Given the description of an element on the screen output the (x, y) to click on. 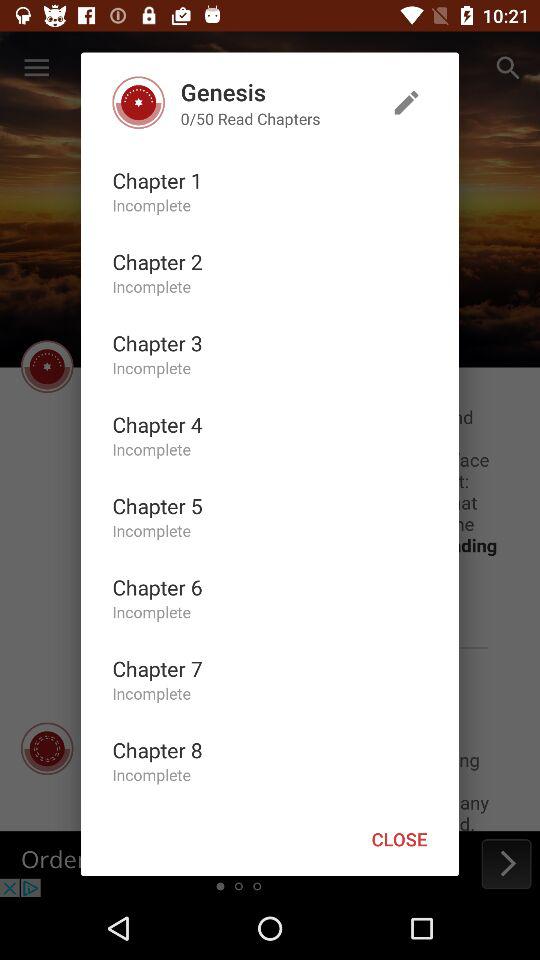
turn off the close icon (399, 838)
